Given the description of an element on the screen output the (x, y) to click on. 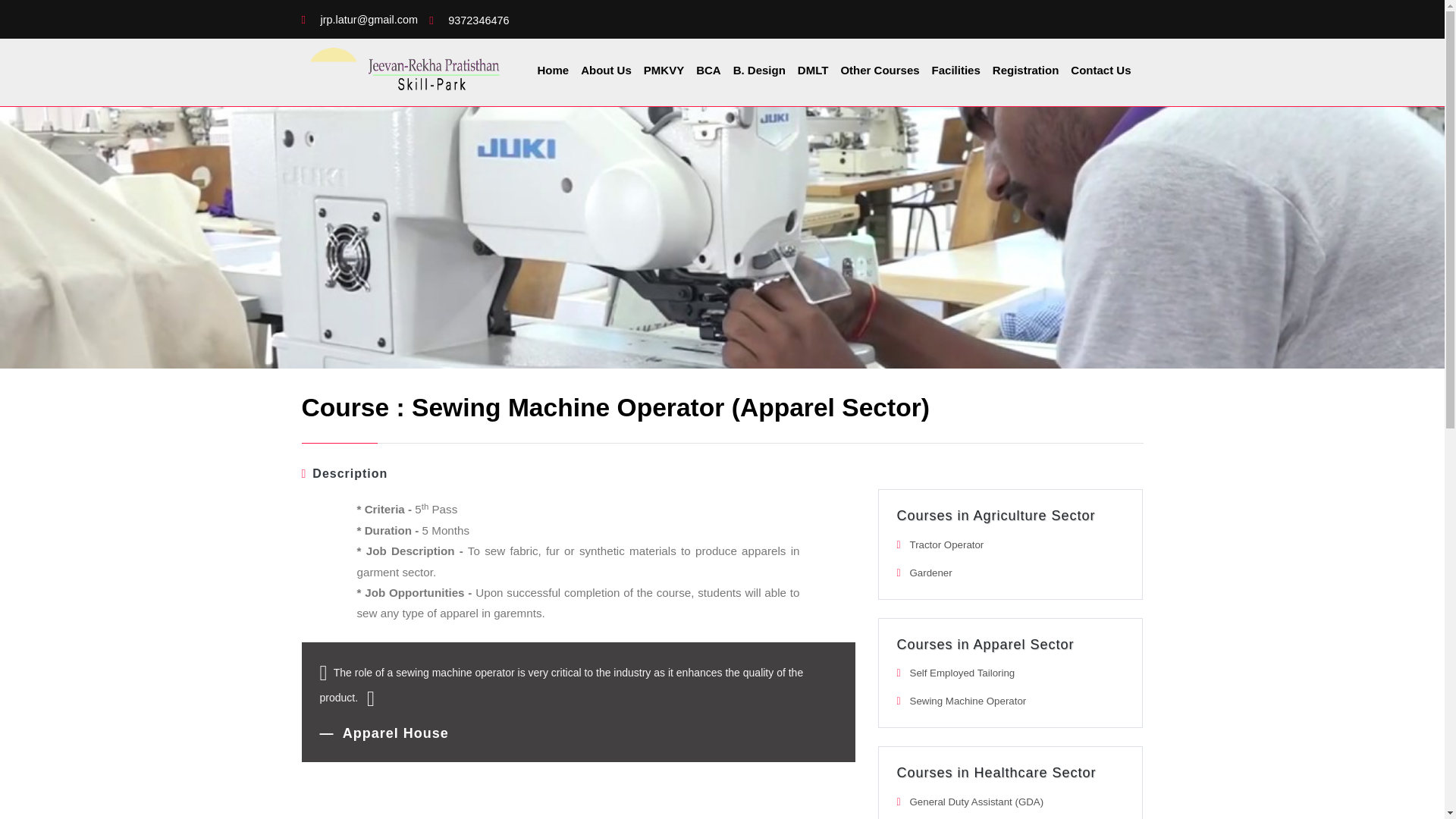
Apparel House (384, 733)
Contact Us (1100, 69)
Home (553, 69)
Facilities (955, 69)
B. Design (759, 69)
DMLT (812, 69)
About Us (605, 69)
Gardener (931, 572)
Sewing Machine Operator (968, 700)
PMKVY (663, 69)
Other Courses (879, 69)
BCA (707, 69)
Self Employed Tailoring (962, 672)
Registration (1025, 69)
Tractor Operator (947, 544)
